Given the description of an element on the screen output the (x, y) to click on. 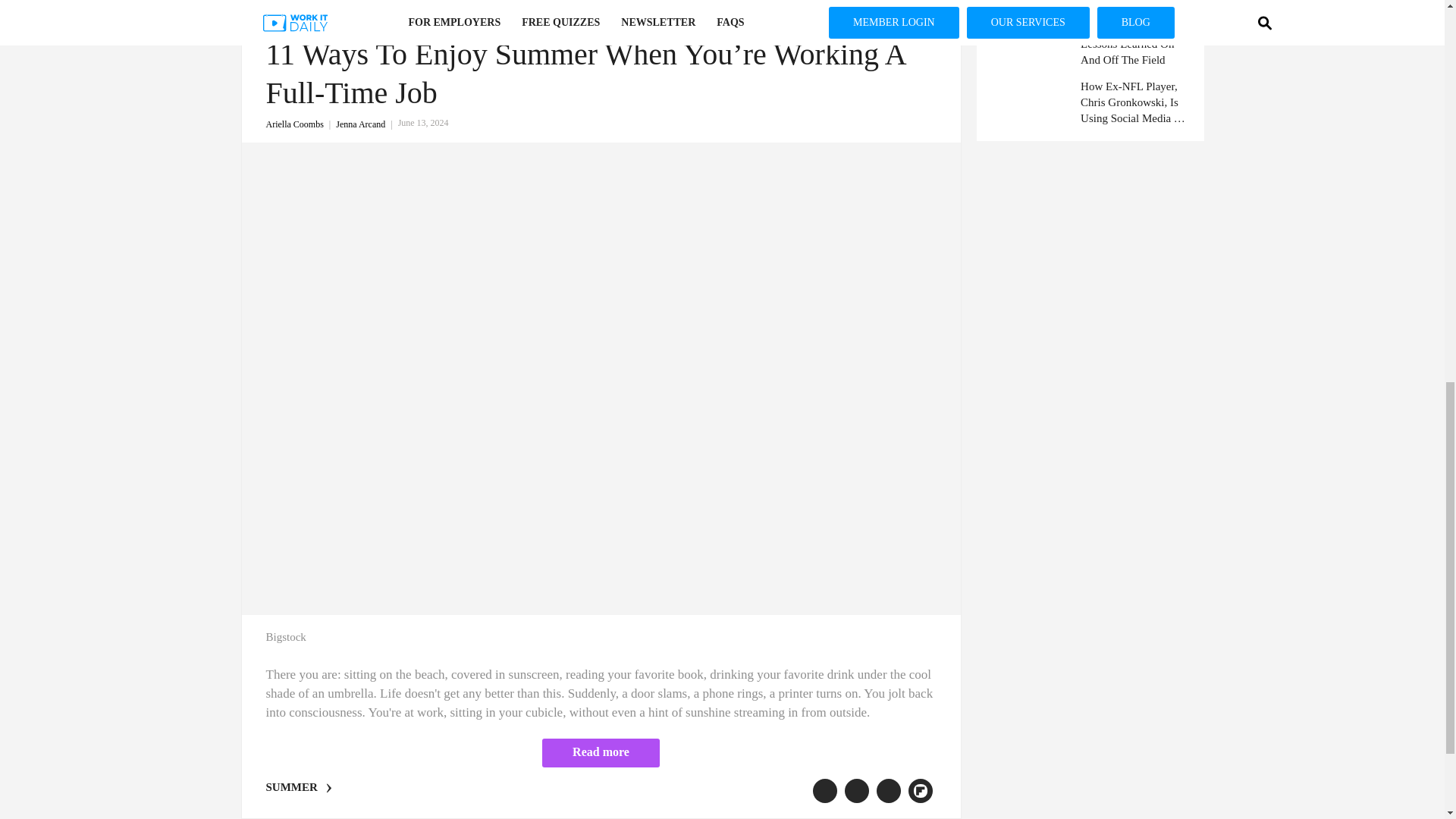
Jenna Arcand (366, 123)
PARTNER BOOST (600, 22)
Ariella Coombs (300, 123)
SUMMER (290, 787)
